Given the description of an element on the screen output the (x, y) to click on. 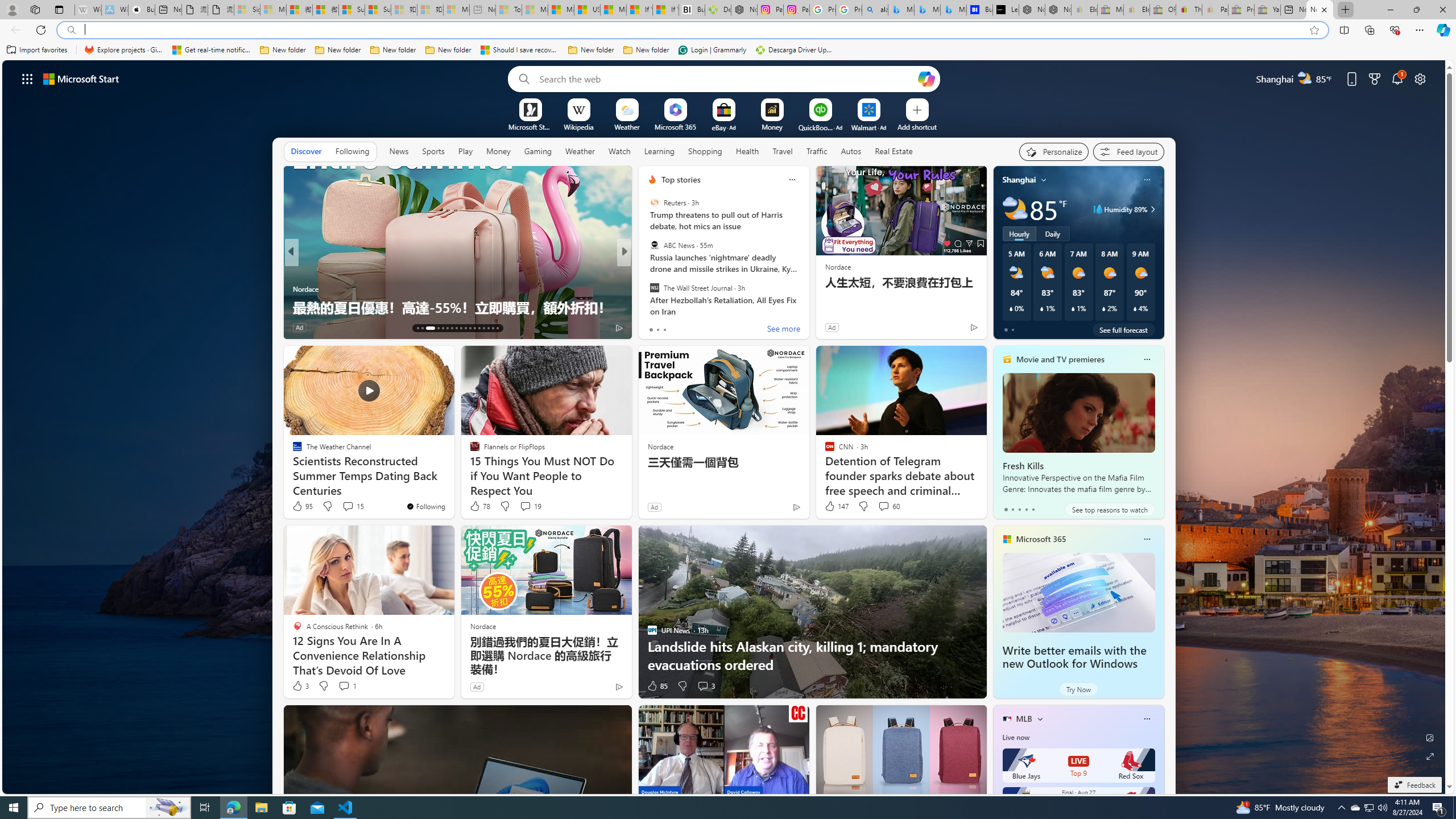
Try Now (1078, 689)
Press Room - eBay Inc. - Sleeping (1241, 9)
Feed settings (1128, 151)
AutomationID: waffle (27, 78)
Favorites bar (728, 49)
Play (465, 151)
AutomationID: tab-27 (488, 328)
Chicago, other Midwest cities on alert for excessive heat (807, 298)
You're following The Weather Channel (425, 505)
Should I save recovered Word documents? - Microsoft Support (519, 49)
Page settings (1420, 78)
alabama high school quarterback dies - Search (874, 9)
Travel (782, 151)
